Given the description of an element on the screen output the (x, y) to click on. 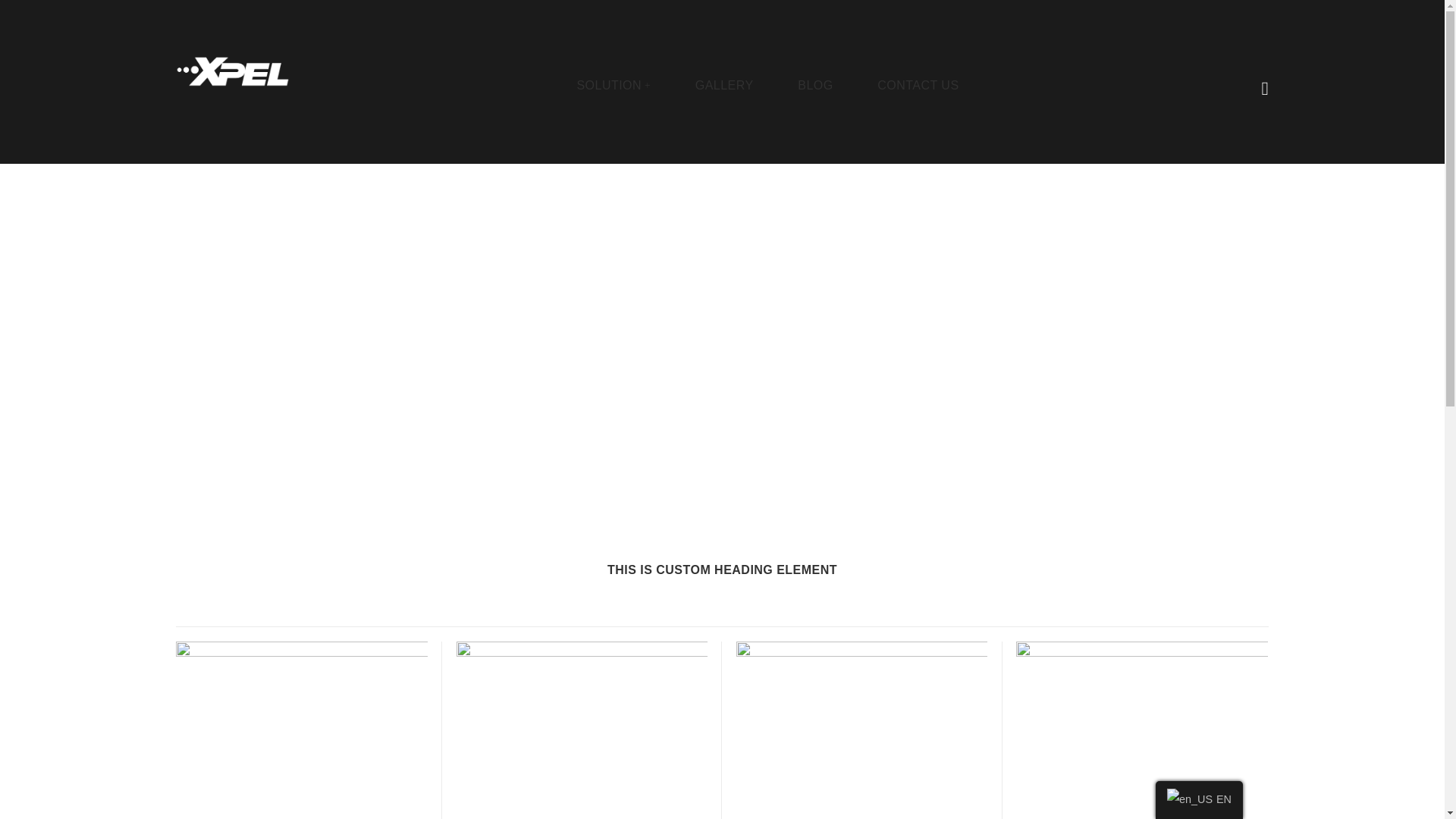
BLOG (815, 86)
English (1189, 799)
SOLUTION (613, 86)
GALLERY (724, 86)
CONTACT US (917, 86)
